Given the description of an element on the screen output the (x, y) to click on. 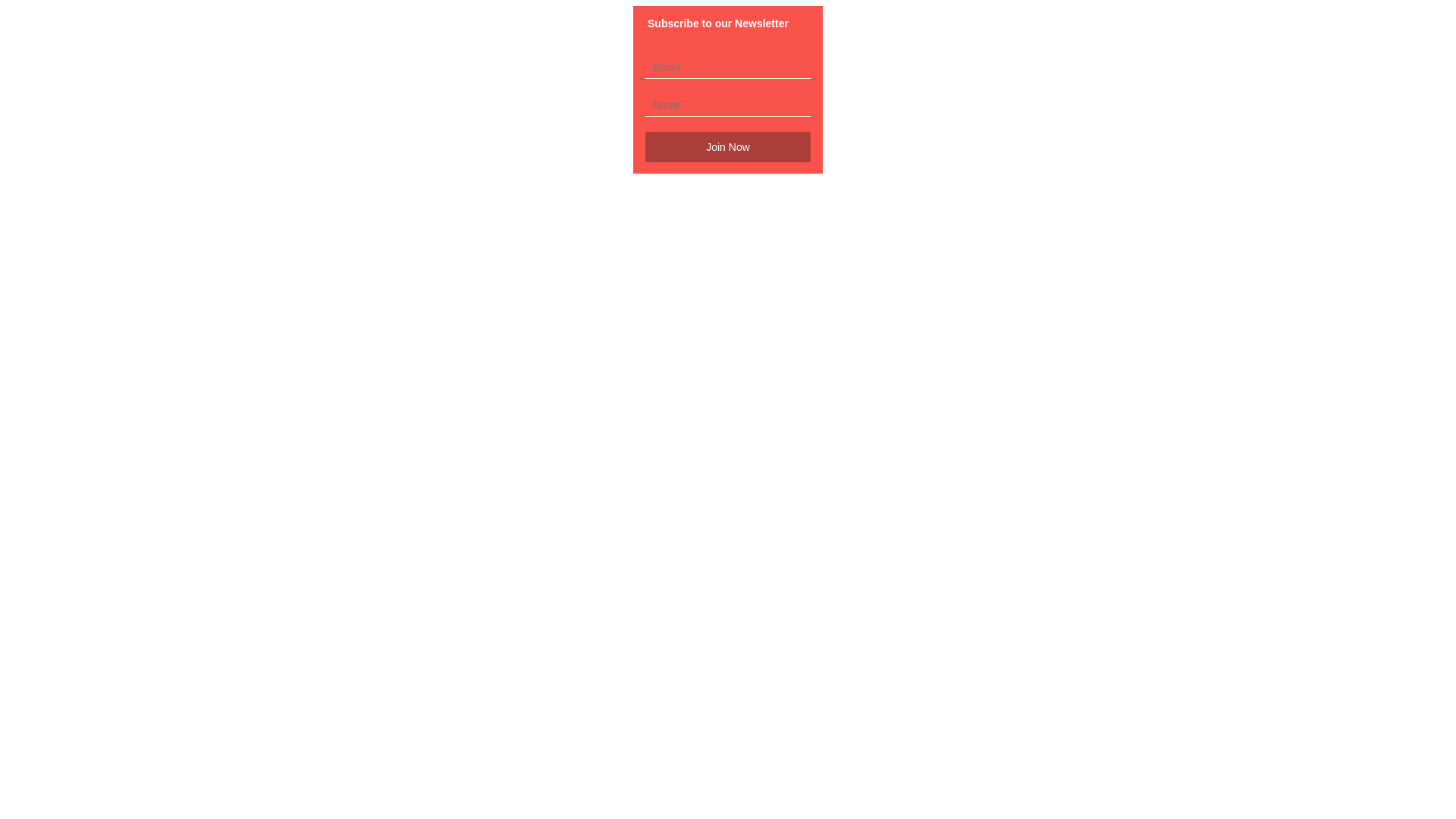
Join Now Element type: text (727, 146)
